Given the description of an element on the screen output the (x, y) to click on. 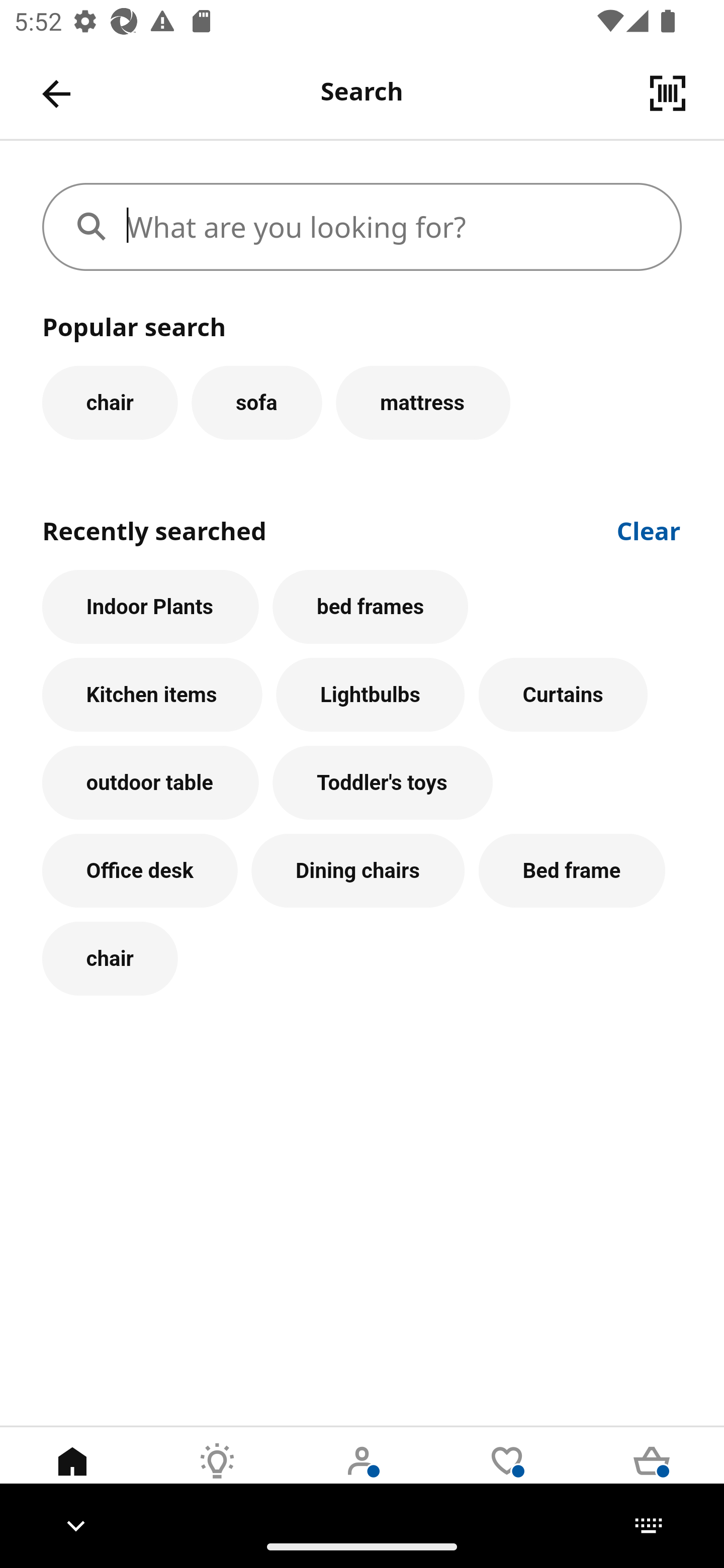
chair (109, 402)
sofa (256, 402)
mattress (423, 402)
Clear (649, 528)
Indoor Plants (150, 606)
bed frames (370, 606)
Kitchen items (151, 695)
Lightbulbs (370, 695)
Curtains (562, 695)
outdoor table (150, 783)
Toddler's toys (382, 783)
Office desk (139, 870)
Dining chairs (357, 870)
Bed frame (571, 870)
chair (109, 958)
Home
Tab 1 of 5 (72, 1476)
Inspirations
Tab 2 of 5 (216, 1476)
